Given the description of an element on the screen output the (x, y) to click on. 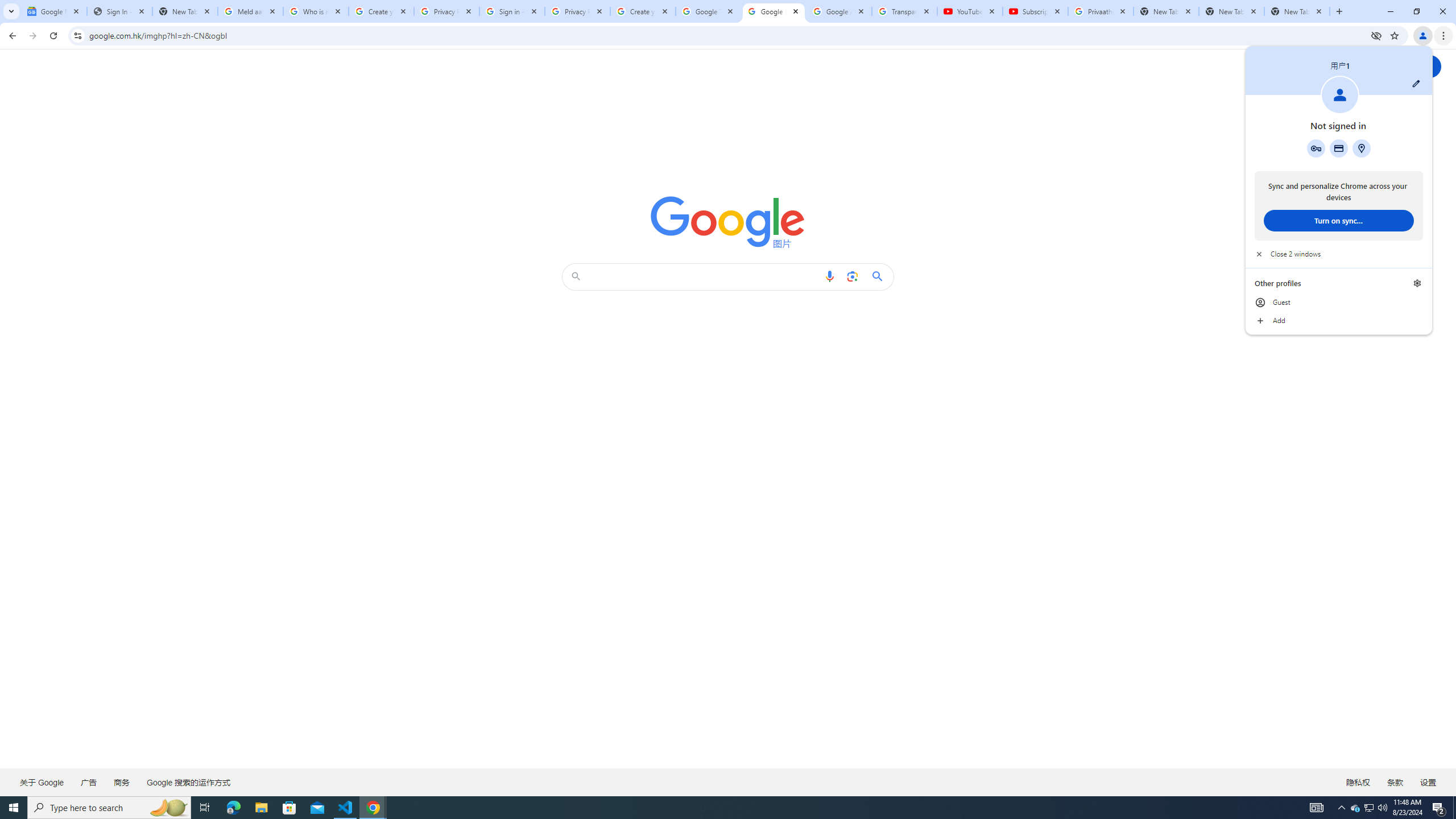
Guest (1338, 302)
Visual Studio Code - 1 running window (345, 807)
AutomationID: 4105 (1316, 807)
Q2790: 100% (1382, 807)
File Explorer (261, 807)
Customize profile (1415, 83)
User Promoted Notification Area (1368, 807)
Google Account (838, 11)
